Given the description of an element on the screen output the (x, y) to click on. 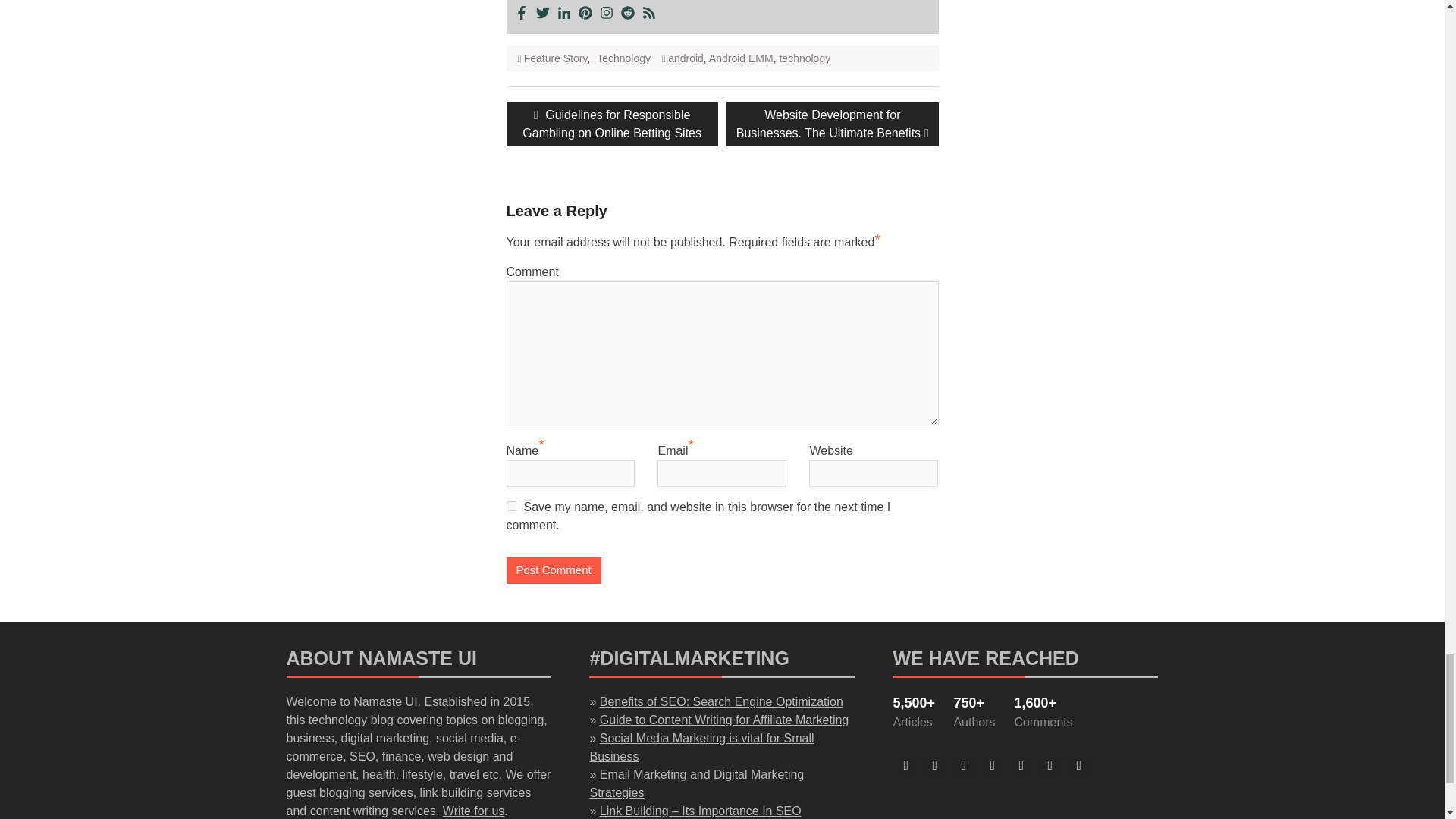
yes (511, 506)
Post Comment (553, 570)
